Given the description of an element on the screen output the (x, y) to click on. 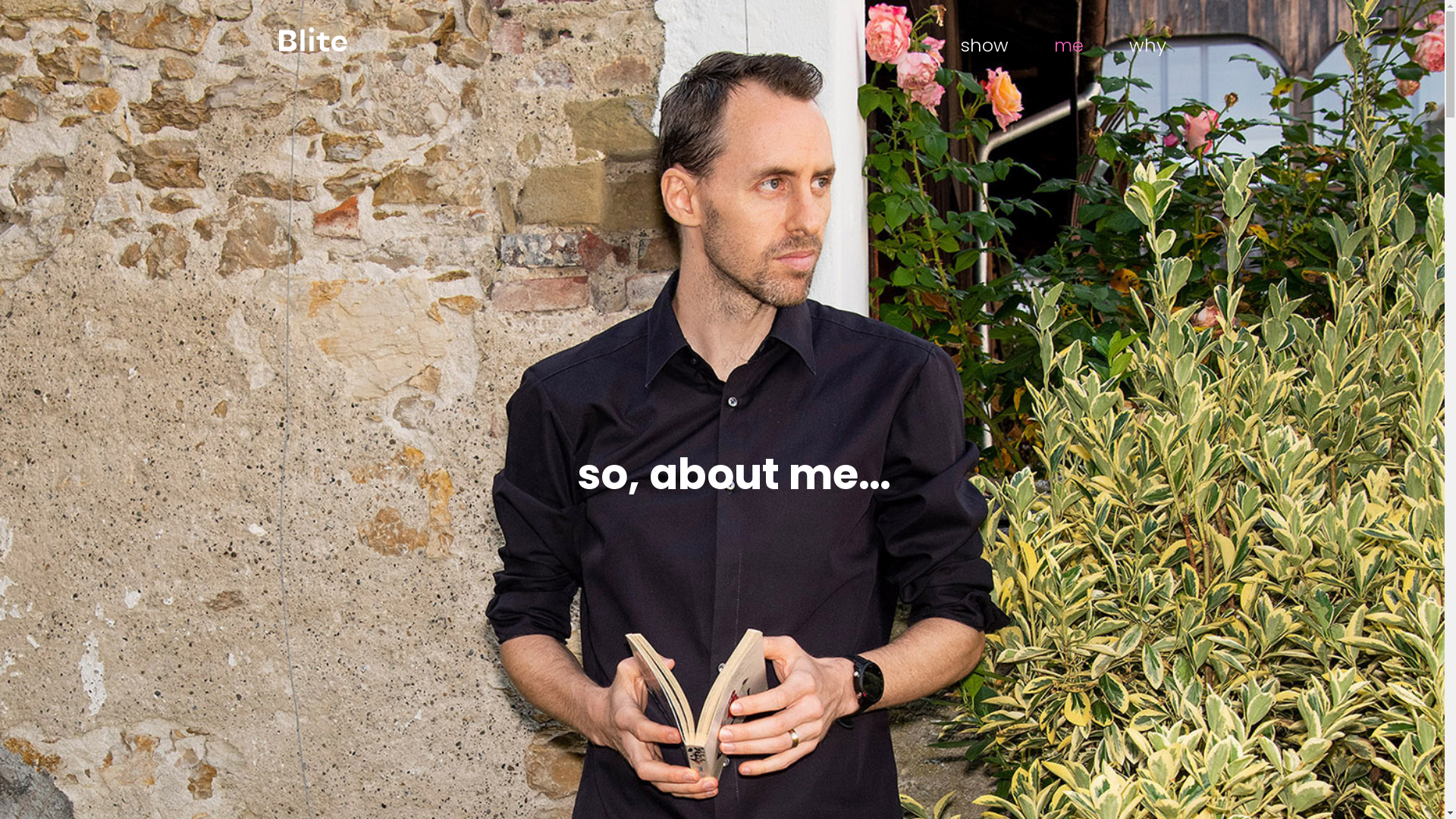
why Element type: text (1135, 45)
show Element type: text (995, 45)
me Element type: text (1068, 45)
blite Element type: hover (313, 40)
